Given the description of an element on the screen output the (x, y) to click on. 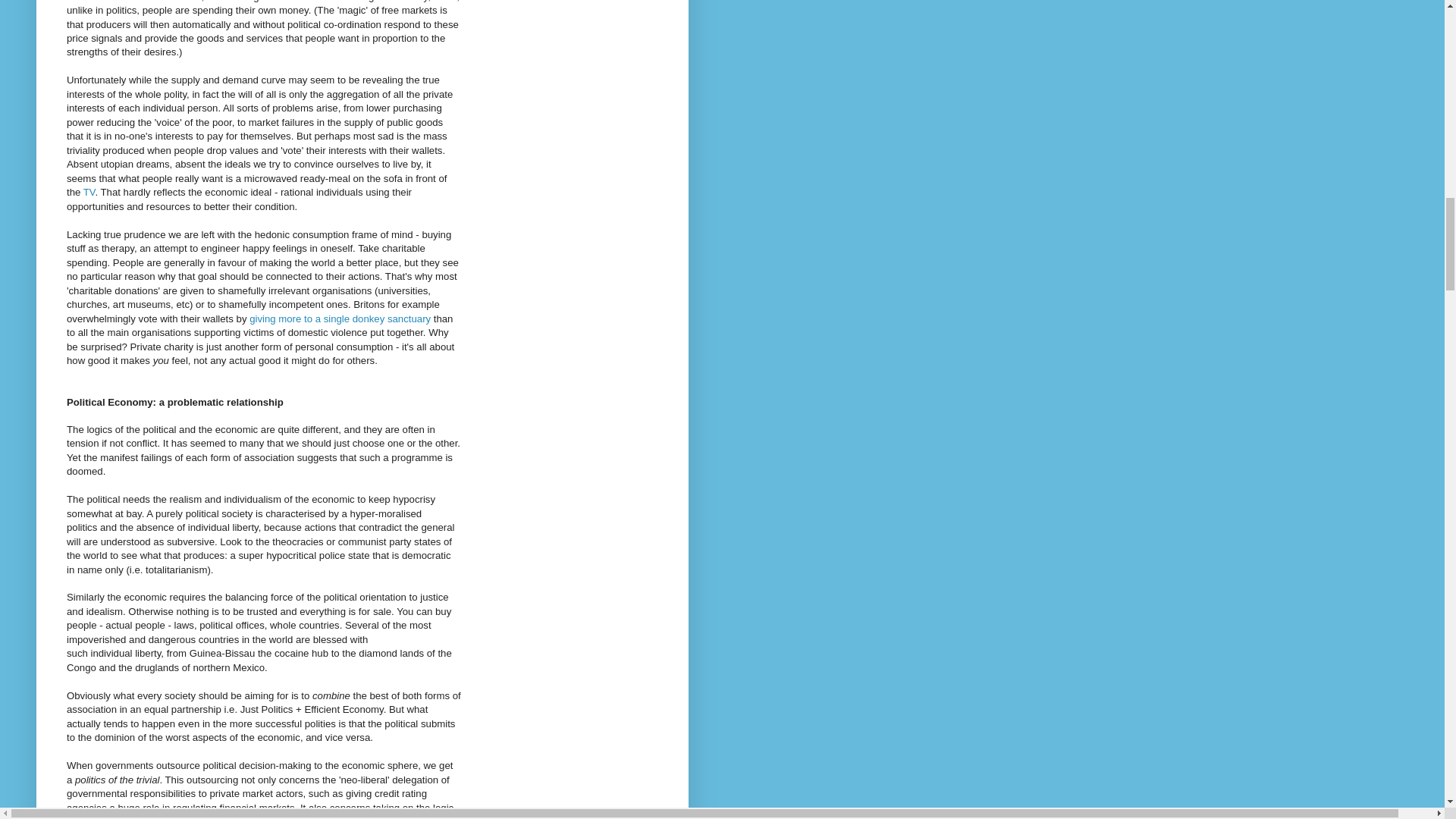
giving more to a single donkey sanctuary (339, 318)
TV (89, 192)
